Given the description of an element on the screen output the (x, y) to click on. 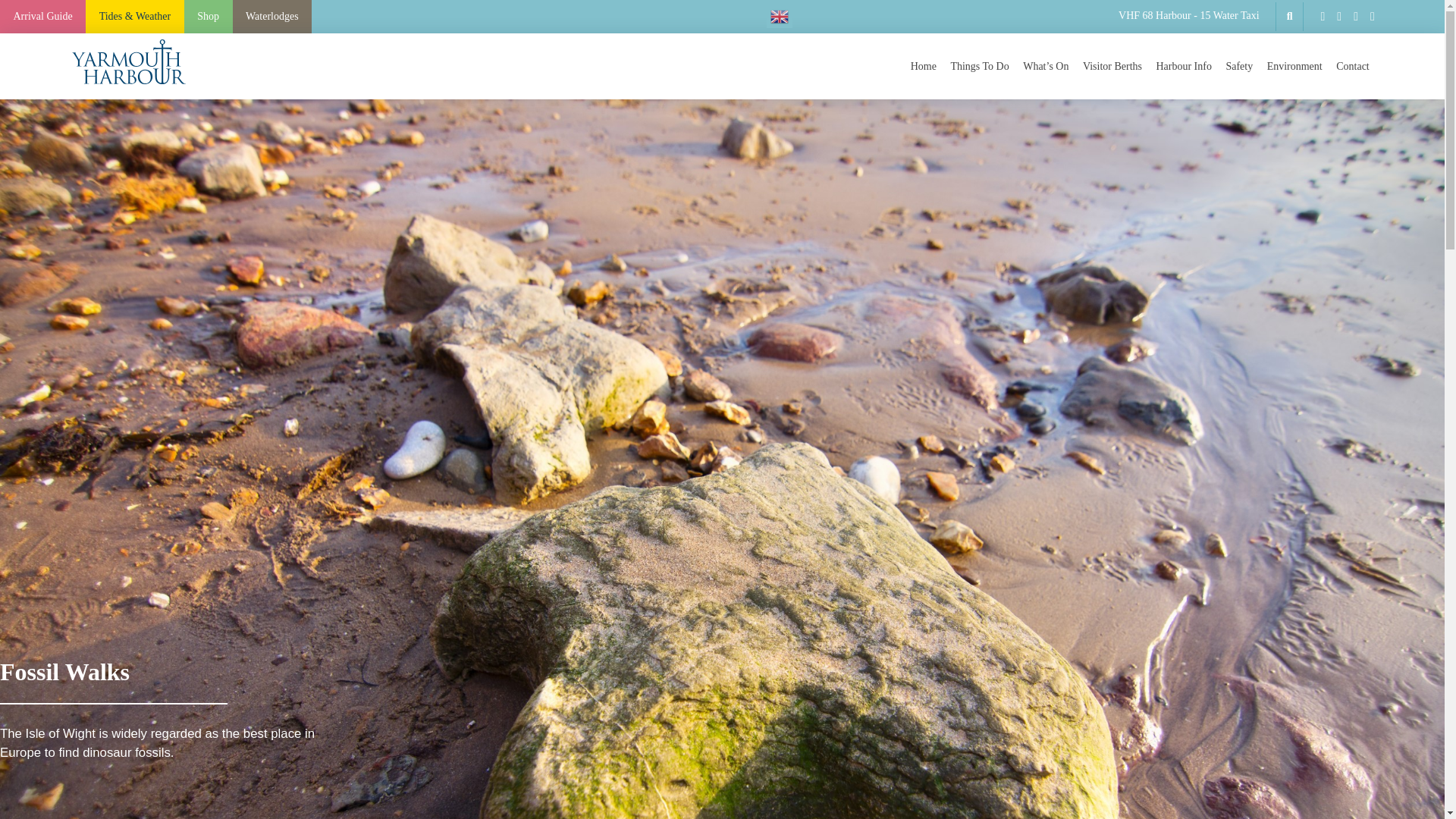
Home (922, 66)
Things To Do (979, 66)
Waterlodges (271, 16)
Arrival Guide (42, 16)
Shop (208, 16)
